Given the description of an element on the screen output the (x, y) to click on. 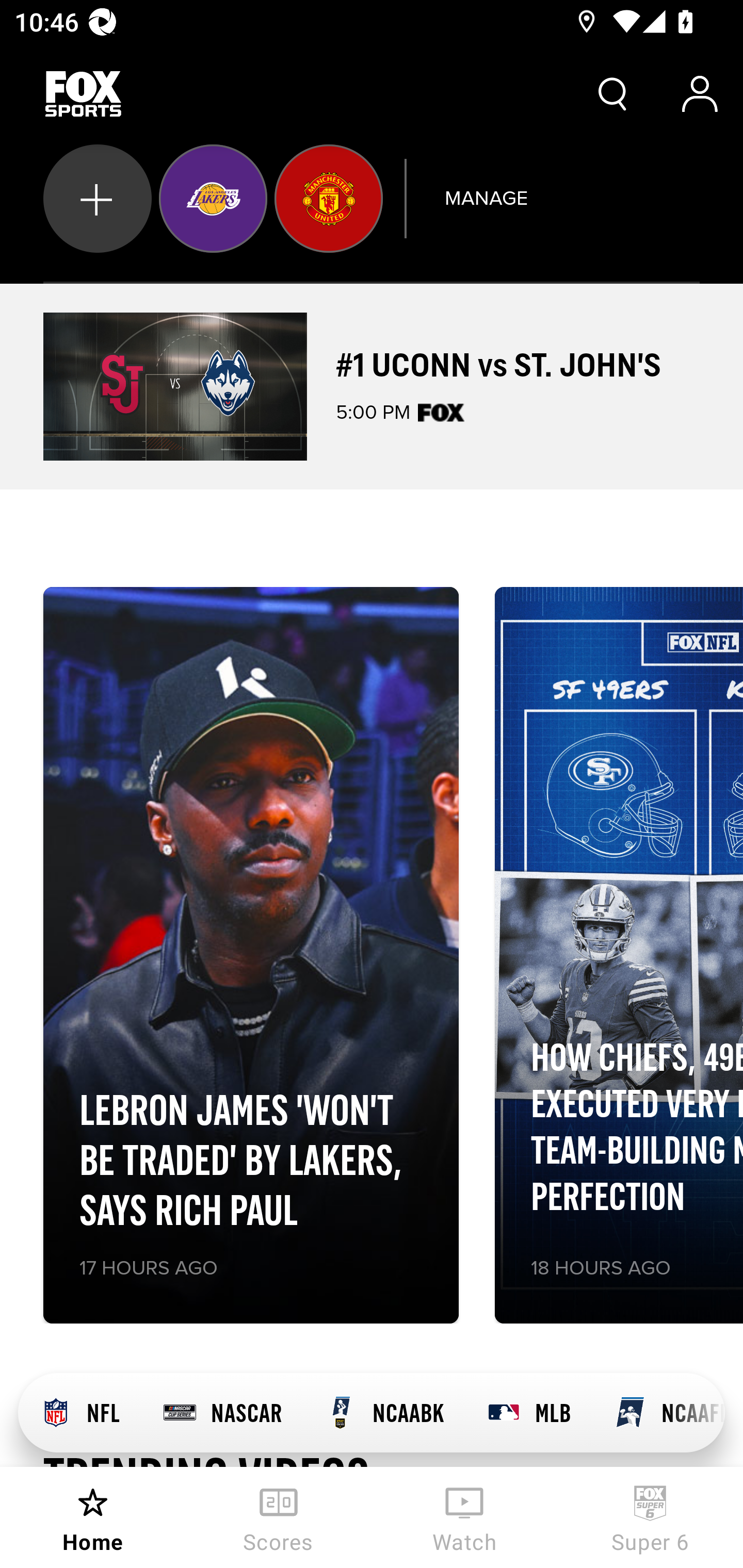
Search (612, 93)
Account (699, 93)
MANAGE (485, 198)
#1 UCONN vs ST. JOHN'S 5:00 PM (371, 386)
NFL (79, 1412)
NASCAR (222, 1412)
NCAABK (384, 1412)
MLB (528, 1412)
NCAAFB (658, 1412)
Scores (278, 1517)
Watch (464, 1517)
Super 6 (650, 1517)
